Given the description of an element on the screen output the (x, y) to click on. 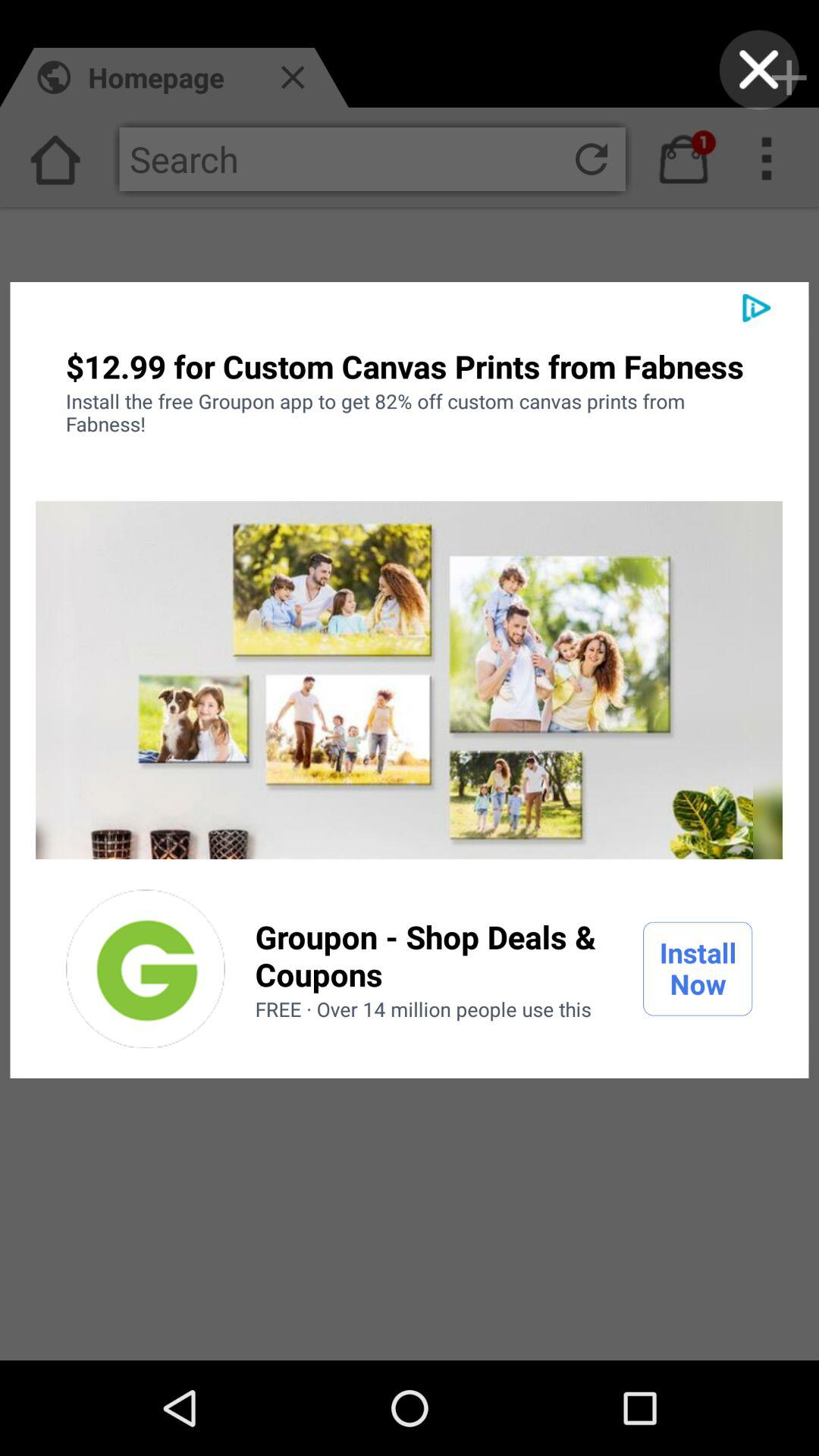
close window (759, 69)
